Given the description of an element on the screen output the (x, y) to click on. 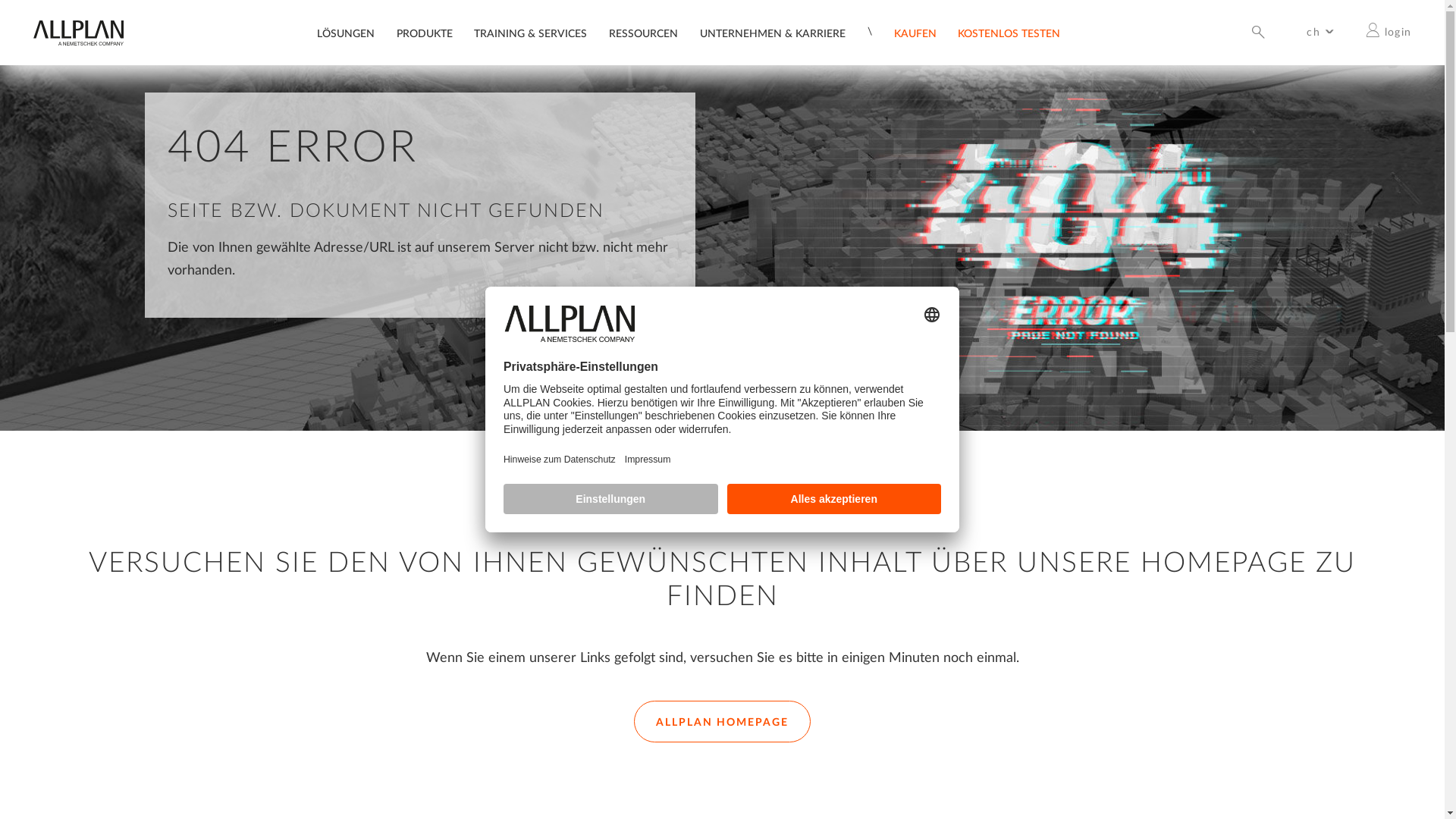
RESSOURCEN Element type: text (642, 36)
Zur Startseite Element type: hover (77, 41)
ALLPLAN HOMEPAGE Element type: text (721, 721)
login Element type: text (1389, 31)
KAUFEN Element type: text (915, 36)
KOSTENLOS TESTEN Element type: text (1008, 36)
UNTERNEHMEN & KARRIERE Element type: text (772, 36)
TRAINING & SERVICES Element type: text (529, 36)
PRODUKTE Element type: text (424, 36)
